Given the description of an element on the screen output the (x, y) to click on. 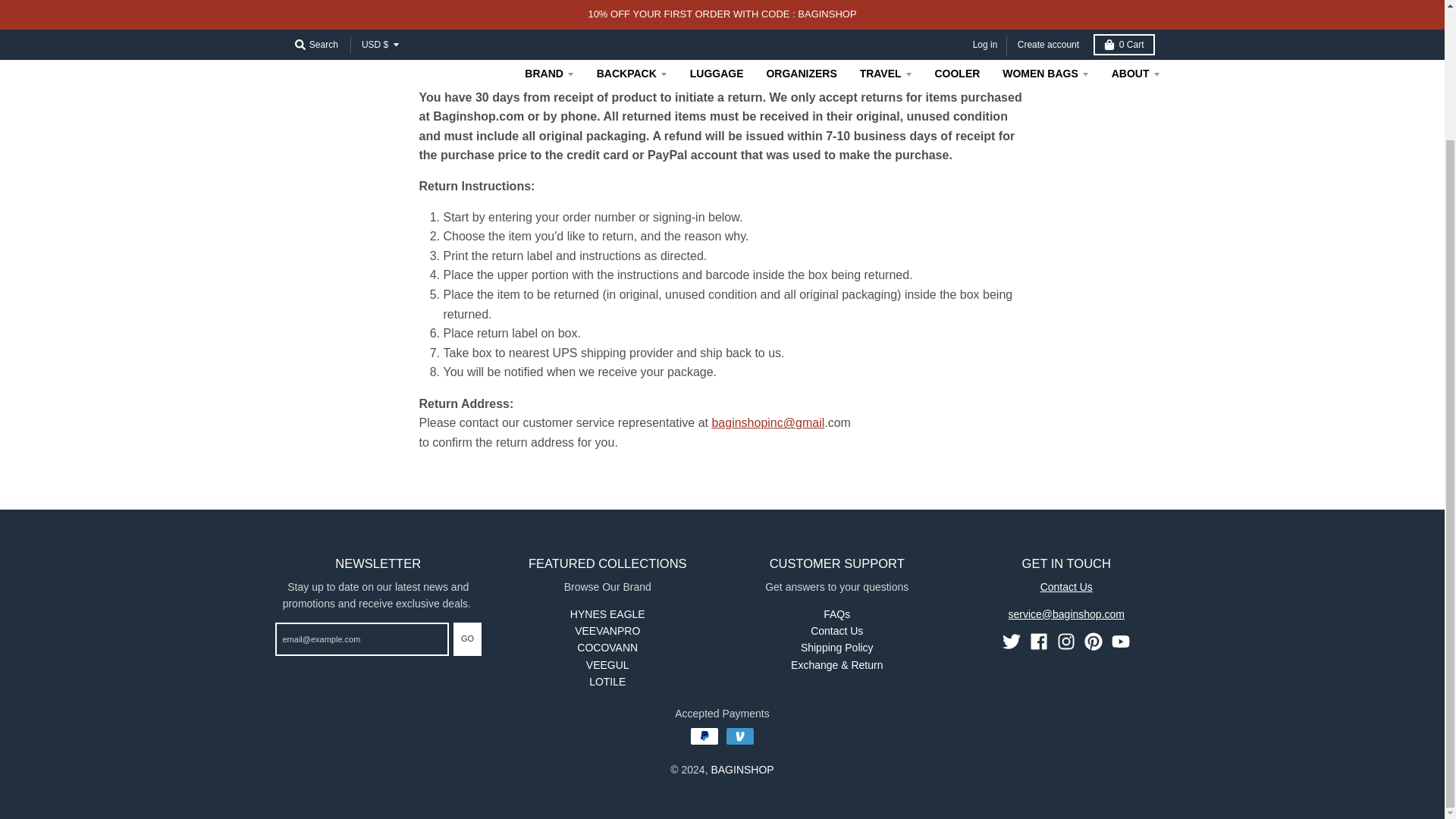
YouTube - BAGINSHOP (1120, 641)
Instagram - BAGINSHOP (1066, 641)
Twitter - BAGINSHOP (1011, 641)
Facebook - BAGINSHOP (1038, 641)
Pinterest - BAGINSHOP (1093, 641)
